Given the description of an element on the screen output the (x, y) to click on. 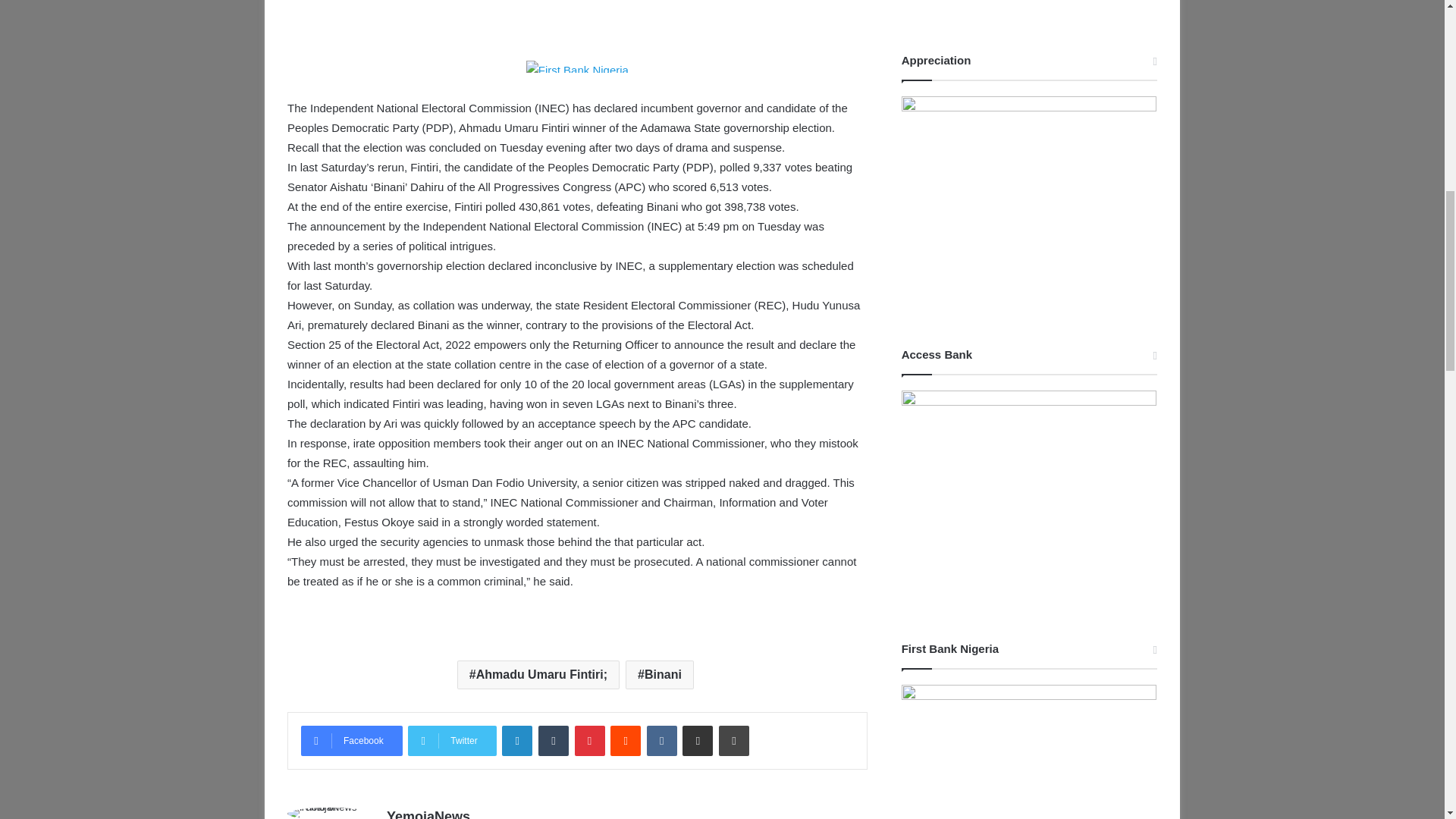
Pinterest (590, 740)
First Bank Nigeria (576, 65)
Twitter (451, 740)
Facebook (352, 740)
Ahmadu Umaru Fintiri; (538, 674)
LinkedIn (517, 740)
Tumblr (553, 740)
Binani (660, 674)
